Given the description of an element on the screen output the (x, y) to click on. 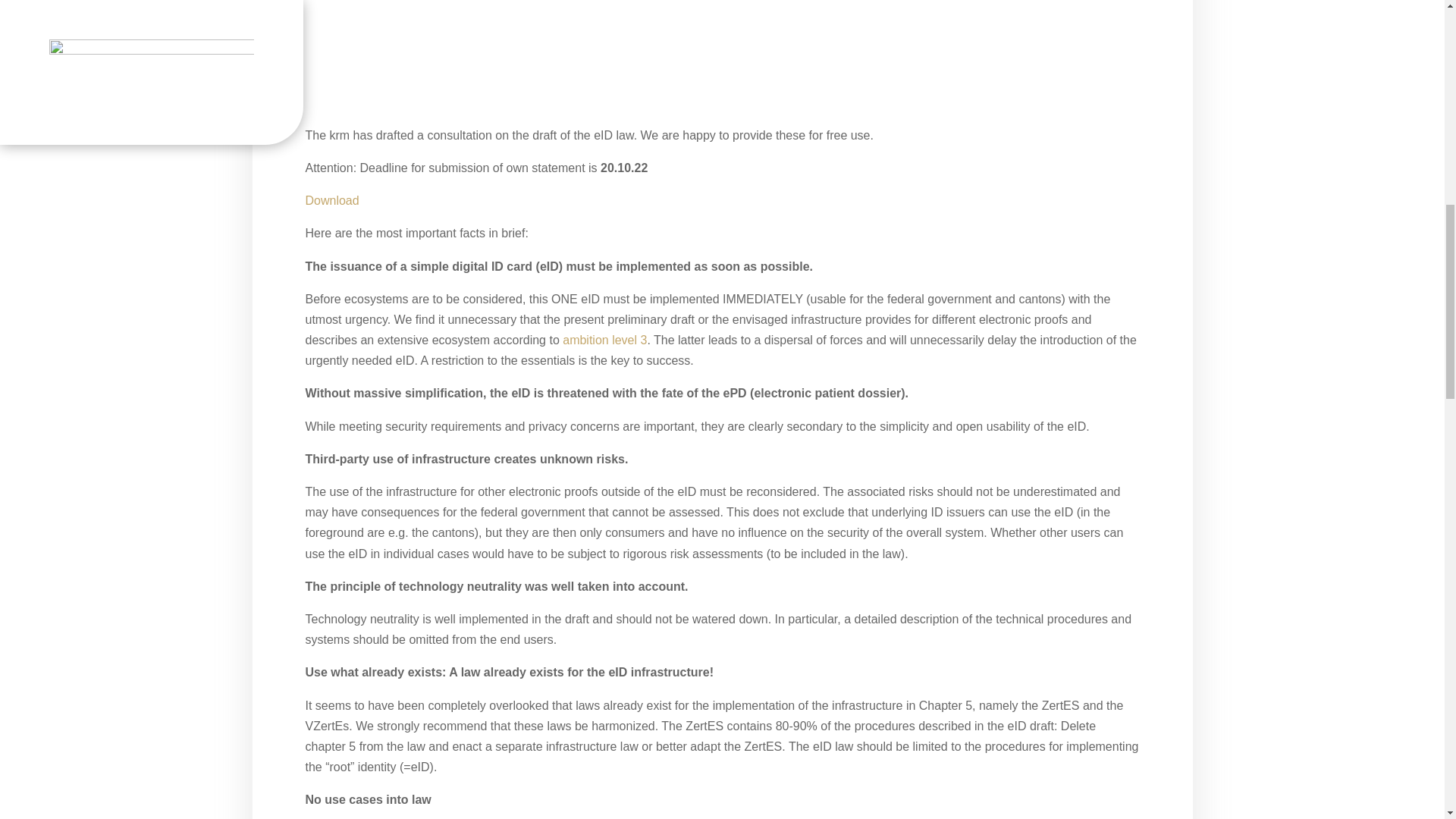
Blog-Beitragsbilder4 (721, 56)
